Given the description of an element on the screen output the (x, y) to click on. 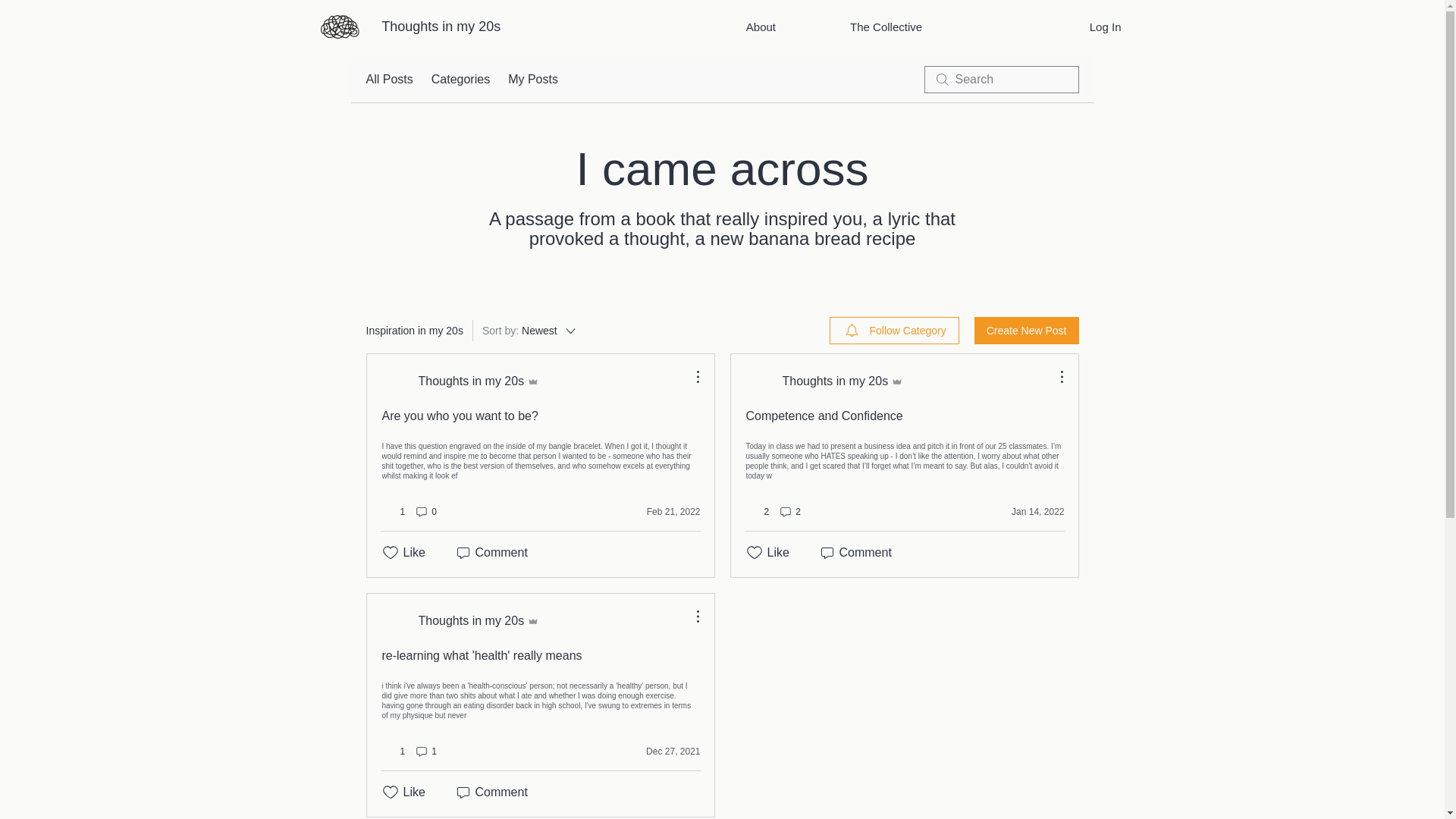
Follow Category (894, 329)
Thoughts in my 20s (460, 620)
About (529, 330)
Dec 27, 2021 (760, 26)
re-learning what 'health' really means (662, 751)
Log In (481, 655)
Comment (1105, 26)
1 (489, 791)
Thoughts in my 20s (424, 751)
Thoughts in my 20s (440, 26)
Create New Post (460, 380)
The Collective (1026, 329)
